Given the description of an element on the screen output the (x, y) to click on. 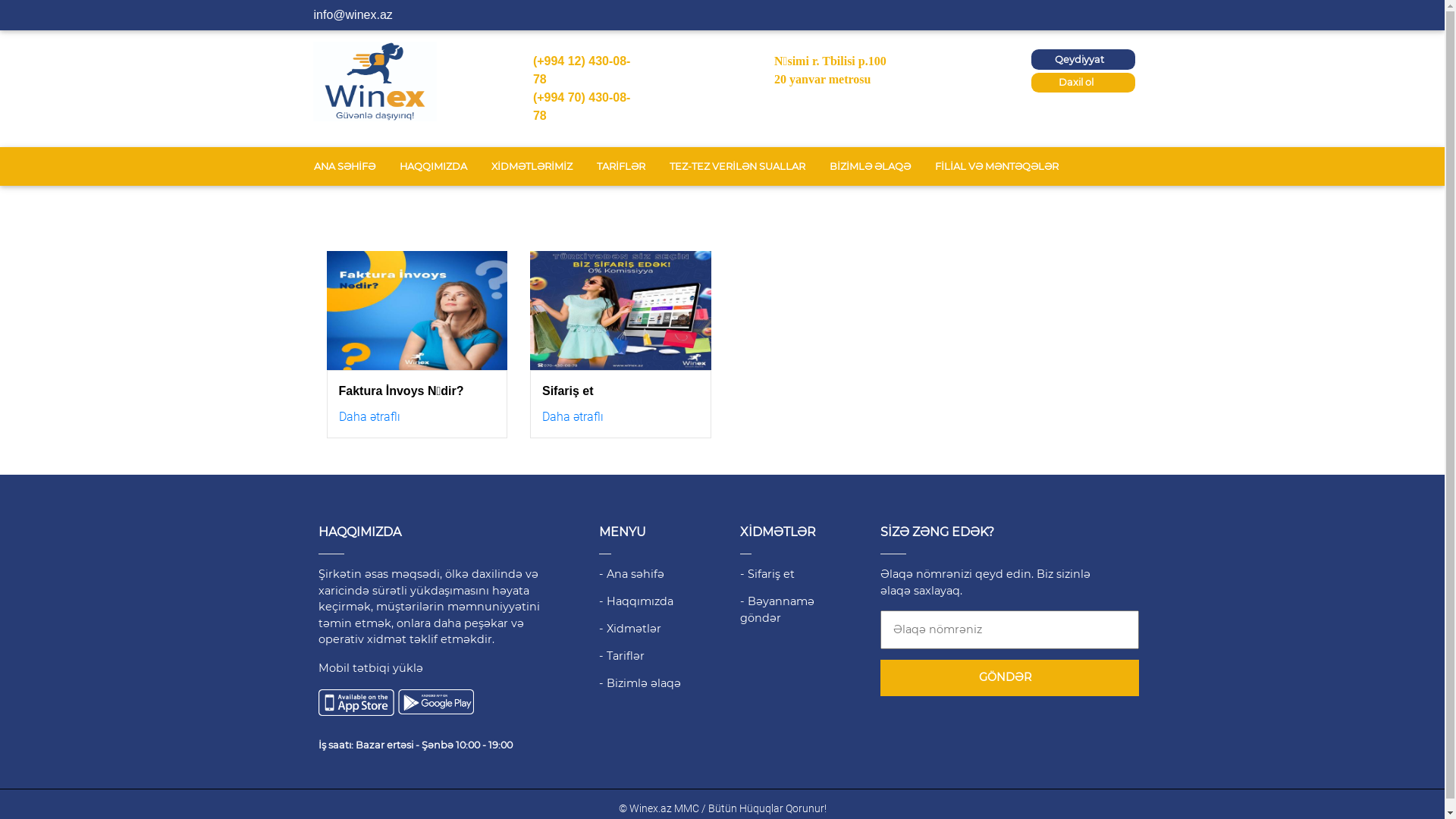
(+994 70) 430-08-78 Element type: text (581, 106)
Qeydiyyat Element type: text (1083, 59)
info@winex.az Element type: text (352, 15)
HAQQIMIZDA Element type: text (432, 166)
(+994 12) 430-08-78 Element type: text (581, 69)
